Given the description of an element on the screen output the (x, y) to click on. 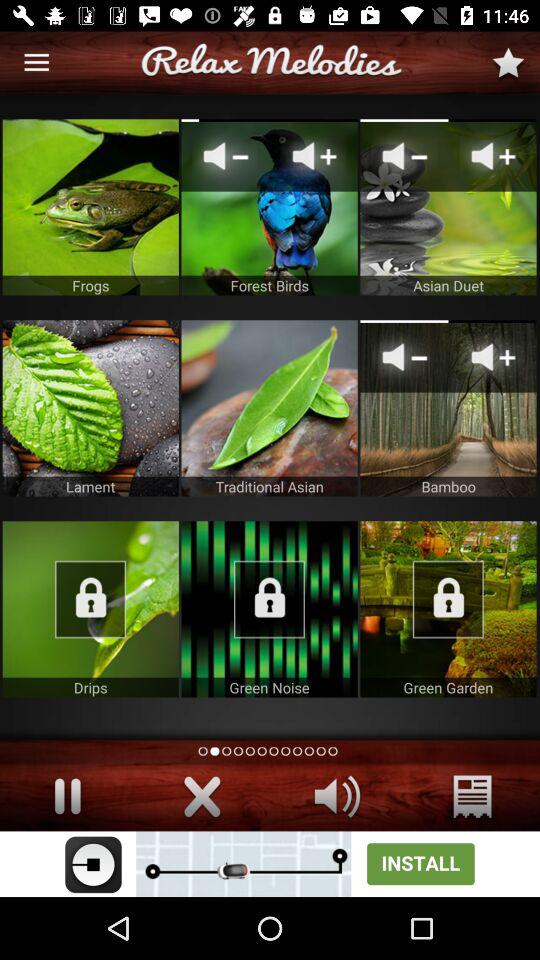
go to advertisement (270, 864)
